Given the description of an element on the screen output the (x, y) to click on. 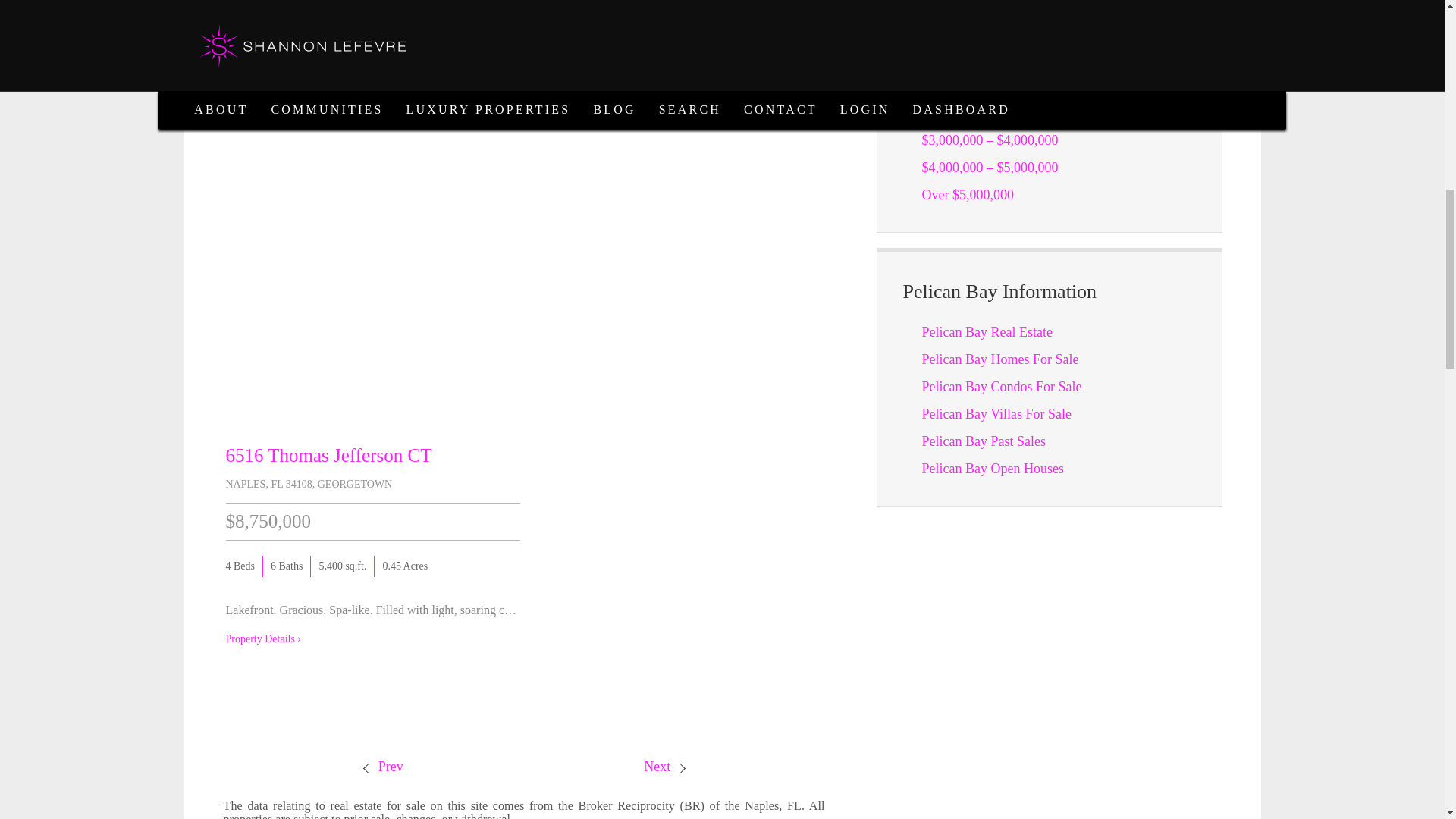
Back to top (1413, 30)
Previous property (382, 766)
Next property (665, 766)
